Given the description of an element on the screen output the (x, y) to click on. 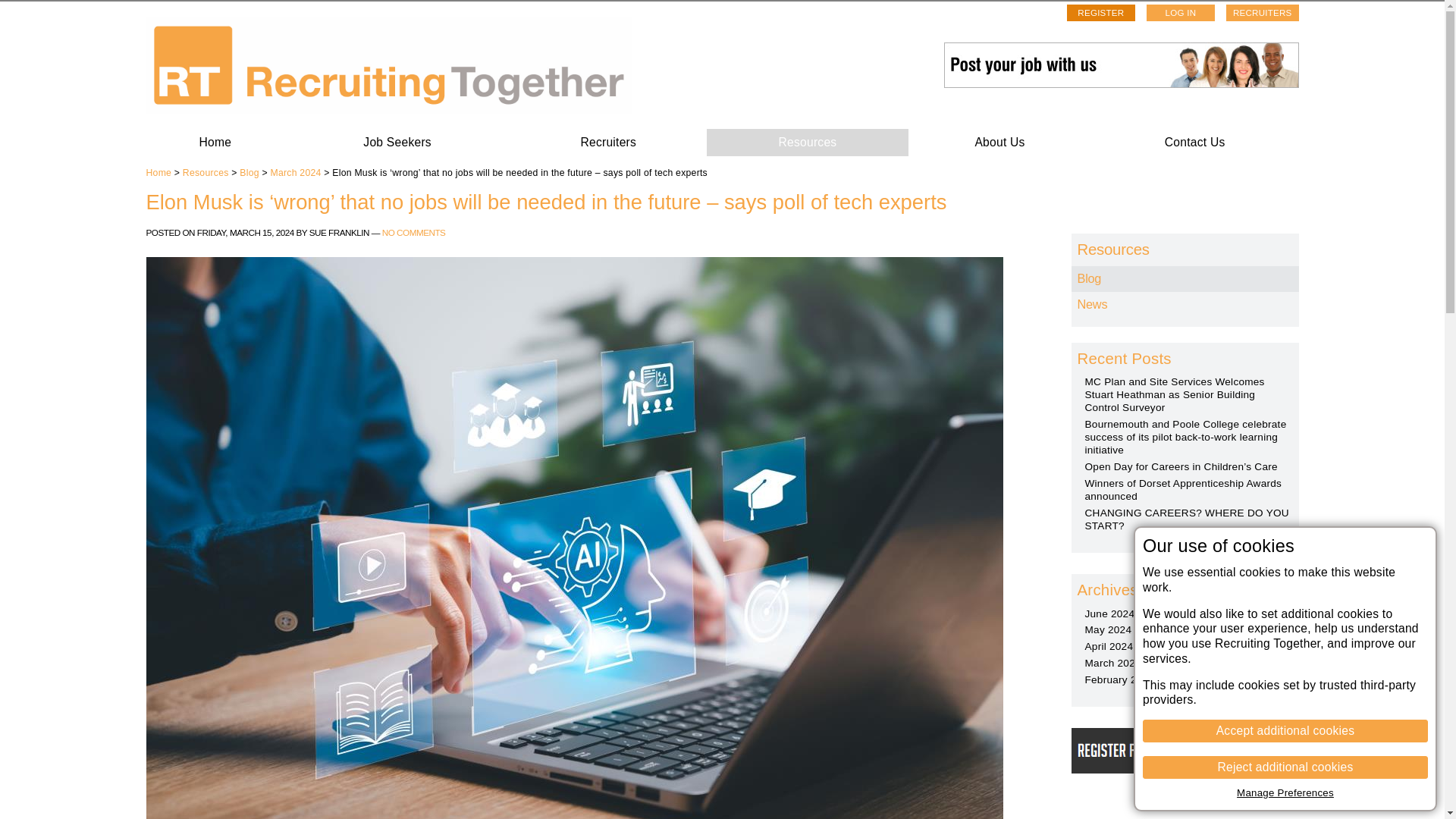
Manage Preferences (1284, 792)
February 2024 (1119, 679)
CHANGING CAREERS? WHERE DO YOU START? (1186, 518)
Resources (807, 142)
March 2024 (294, 172)
Job Seekers (397, 142)
June 2024 (1109, 613)
LOG IN (1180, 12)
March 2024 (1112, 663)
Winners of Dorset Apprenticeship Awards announced (1182, 489)
Blog (249, 172)
NO COMMENTS (413, 232)
Resources (205, 172)
REGISTER (1101, 12)
